Given the description of an element on the screen output the (x, y) to click on. 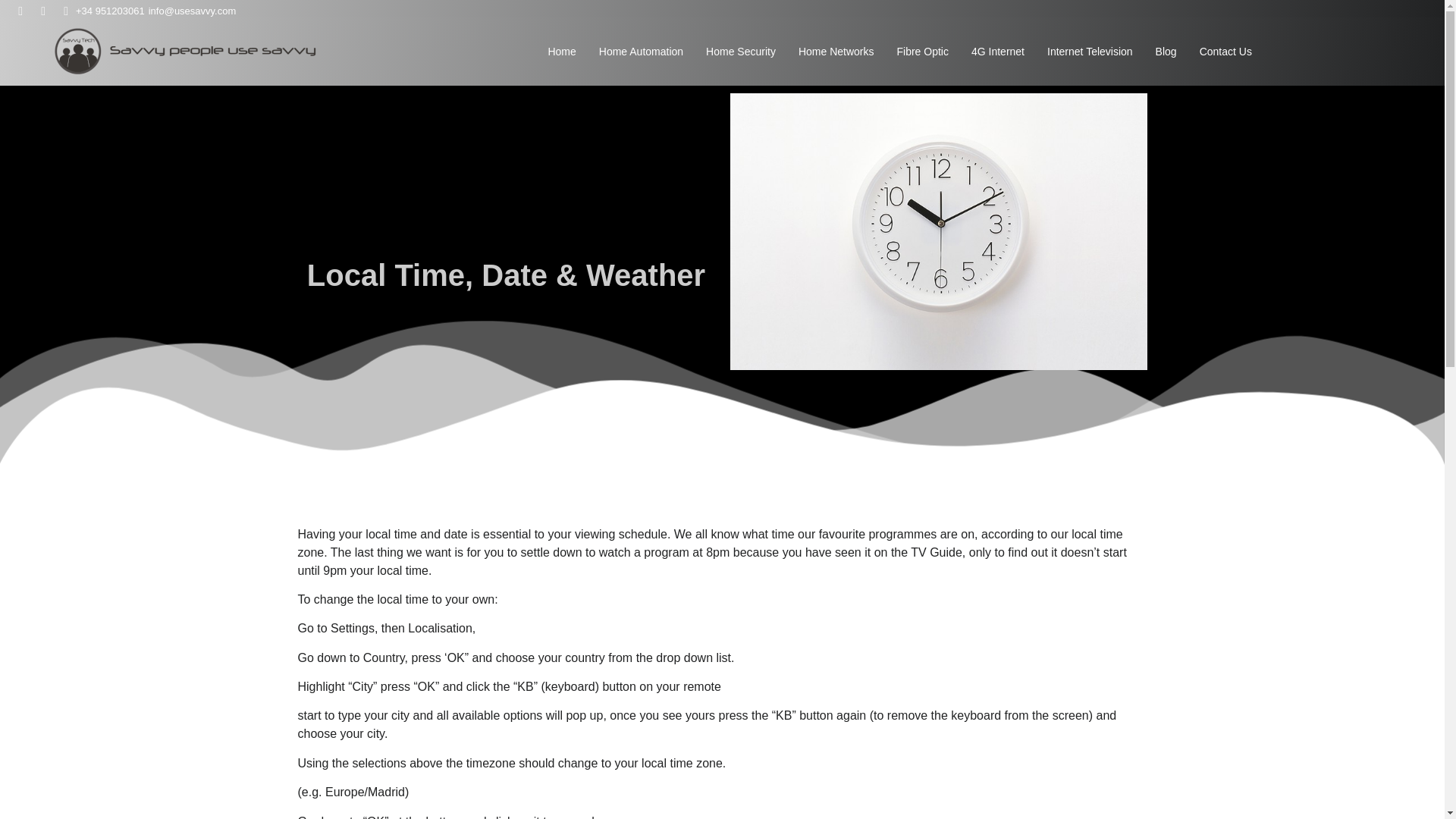
Home (561, 50)
Contact Us (1225, 50)
Internet Television (1089, 50)
Fibre Optic (921, 50)
Home Automation (640, 50)
Home Security (740, 50)
4G Internet (997, 50)
Blog (1166, 50)
Home Networks (836, 50)
